Given the description of an element on the screen output the (x, y) to click on. 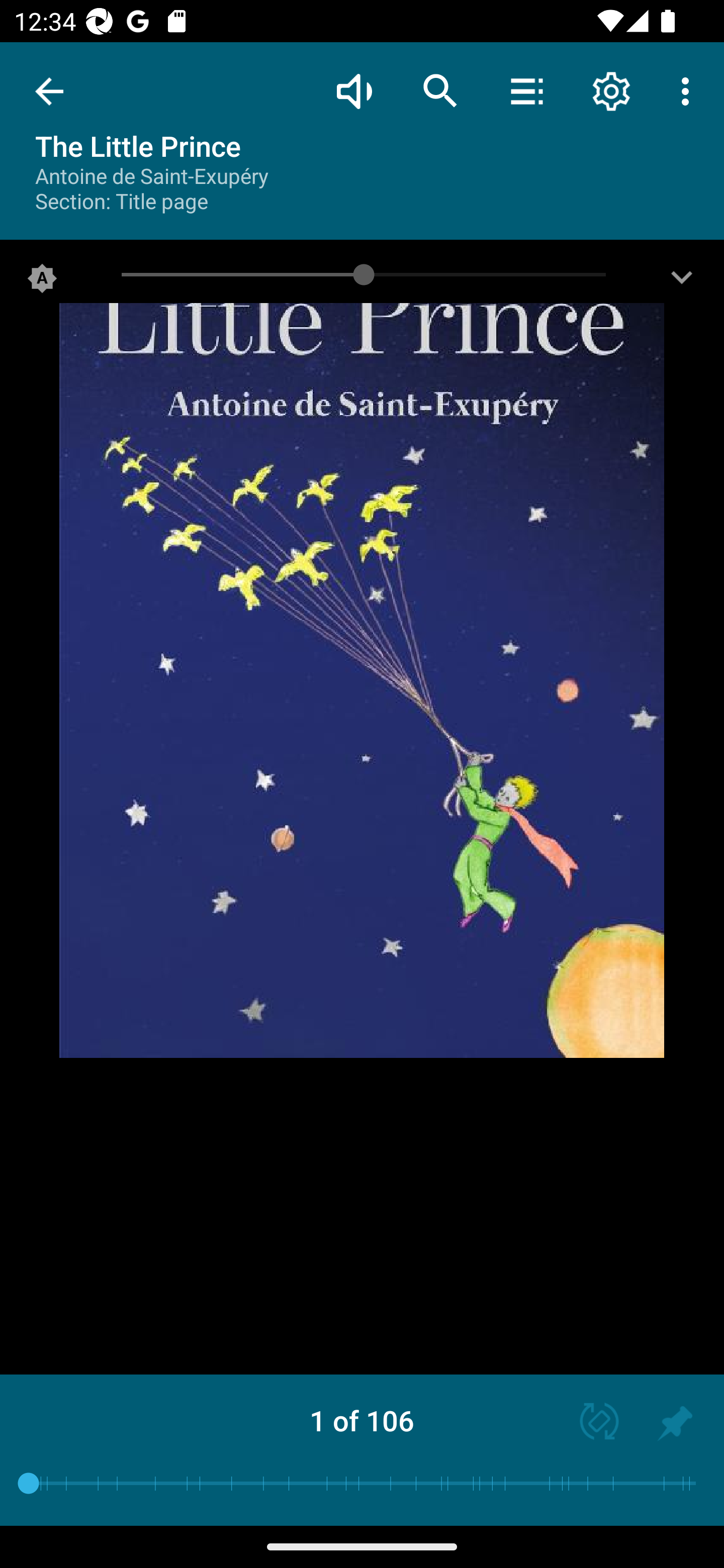
Exit reading (49, 91)
Read aloud (354, 90)
Text search (440, 90)
Contents / Bookmarks / Quotes (526, 90)
Reading settings (611, 90)
More options (688, 90)
Selected screen brightness (42, 281)
Screen brightness settings (681, 281)
1 of 106 (361, 1420)
Screen orientation (590, 1423)
Add to history (674, 1423)
